Given the description of an element on the screen output the (x, y) to click on. 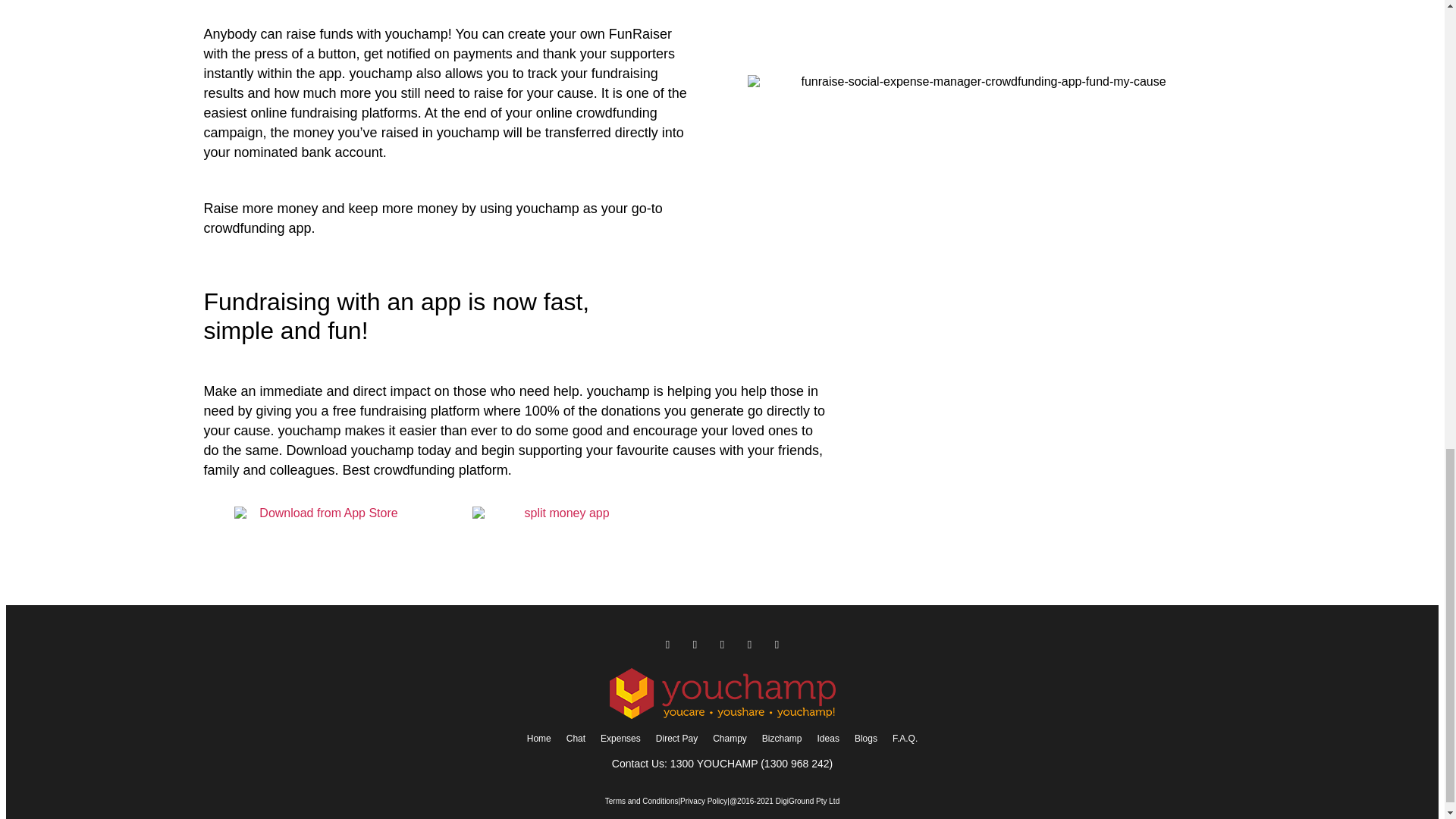
Blogs (866, 738)
Home (539, 738)
Bizchamp (781, 738)
Champy (729, 738)
Ideas (828, 738)
Direct Pay (675, 738)
Expenses (619, 738)
F.A.Q. (904, 738)
Chat (575, 738)
